Given the description of an element on the screen output the (x, y) to click on. 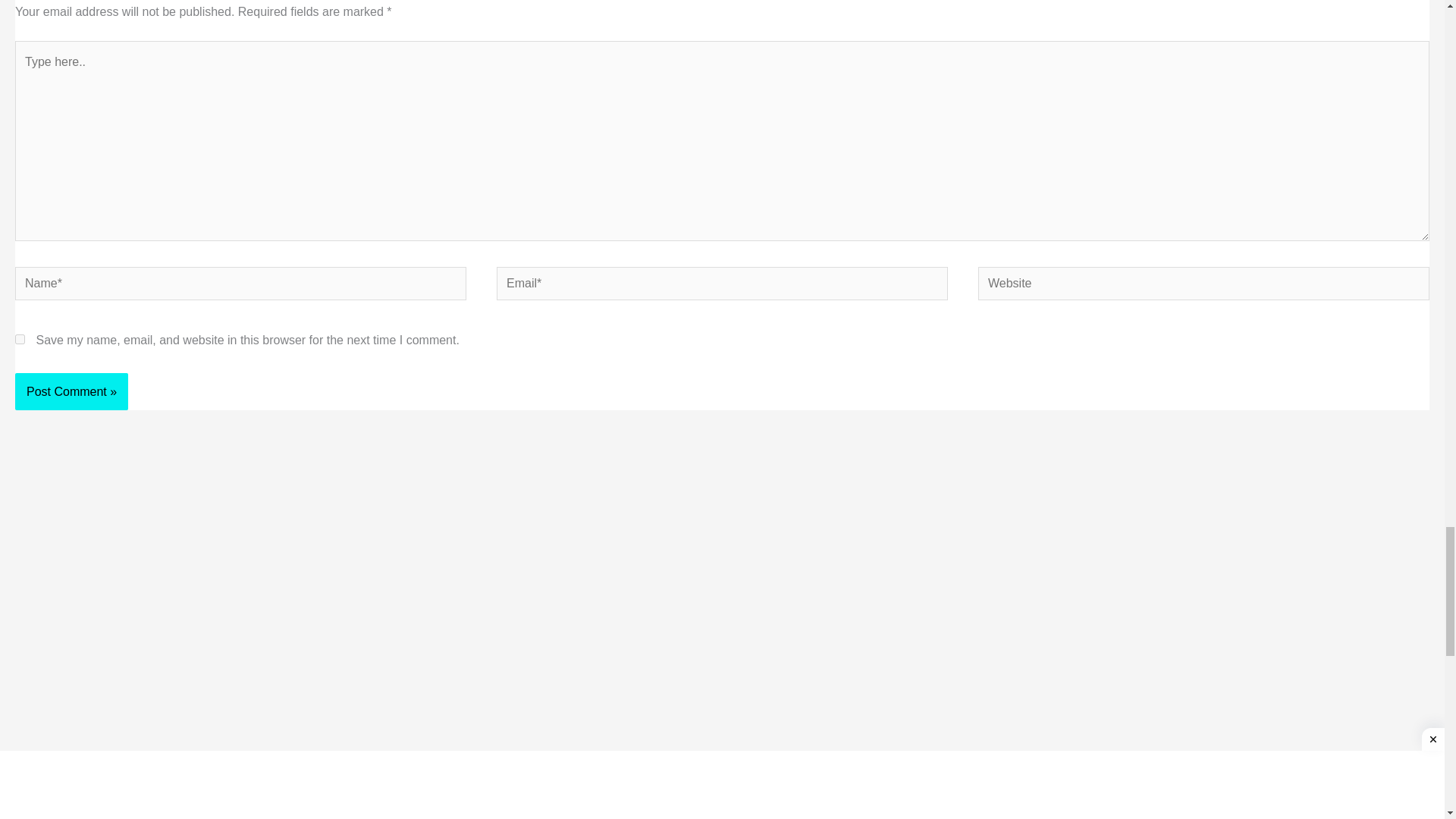
Advertisement (174, 662)
yes (19, 338)
